Given the description of an element on the screen output the (x, y) to click on. 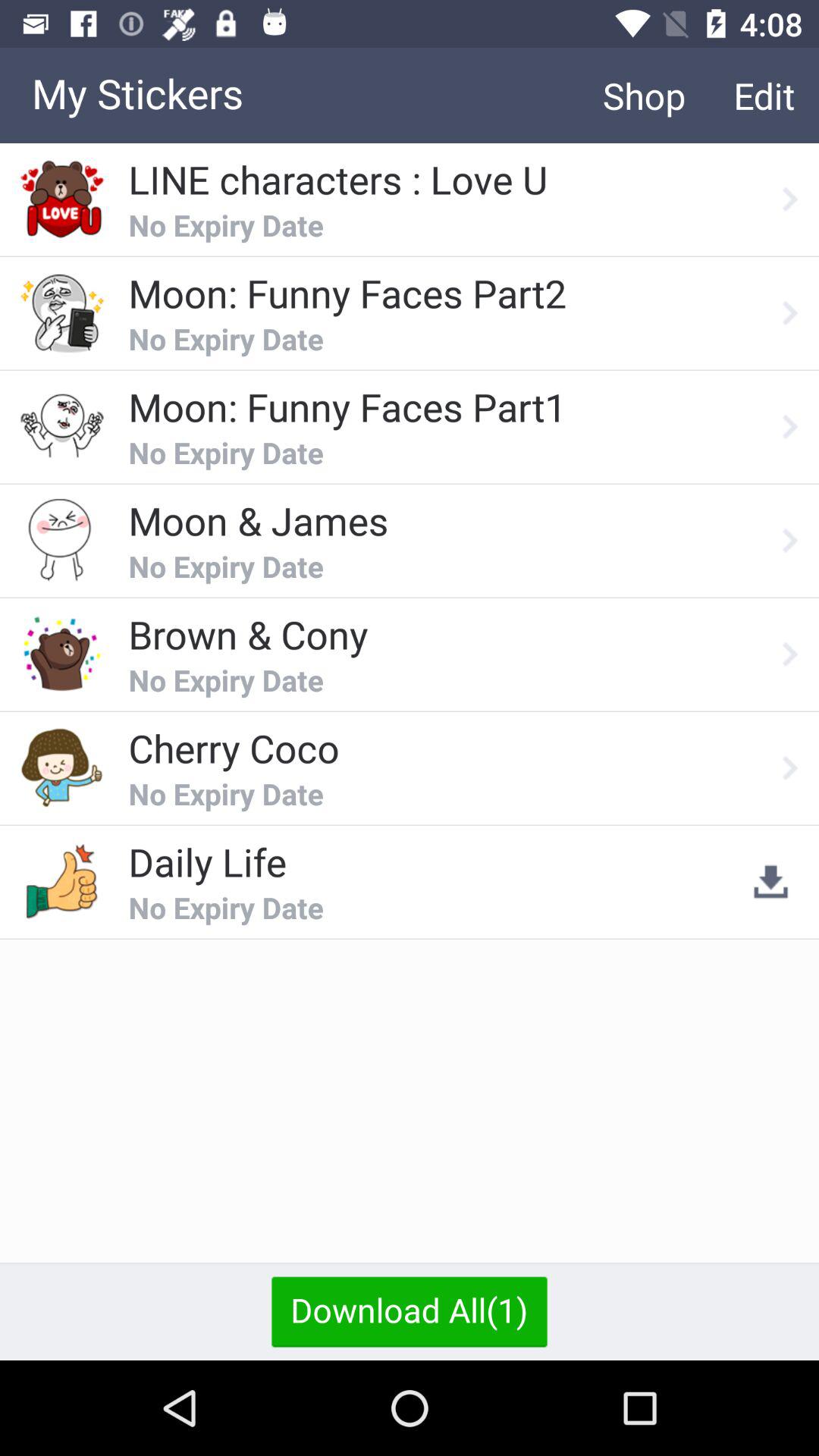
flip until download all(1) (409, 1311)
